Given the description of an element on the screen output the (x, y) to click on. 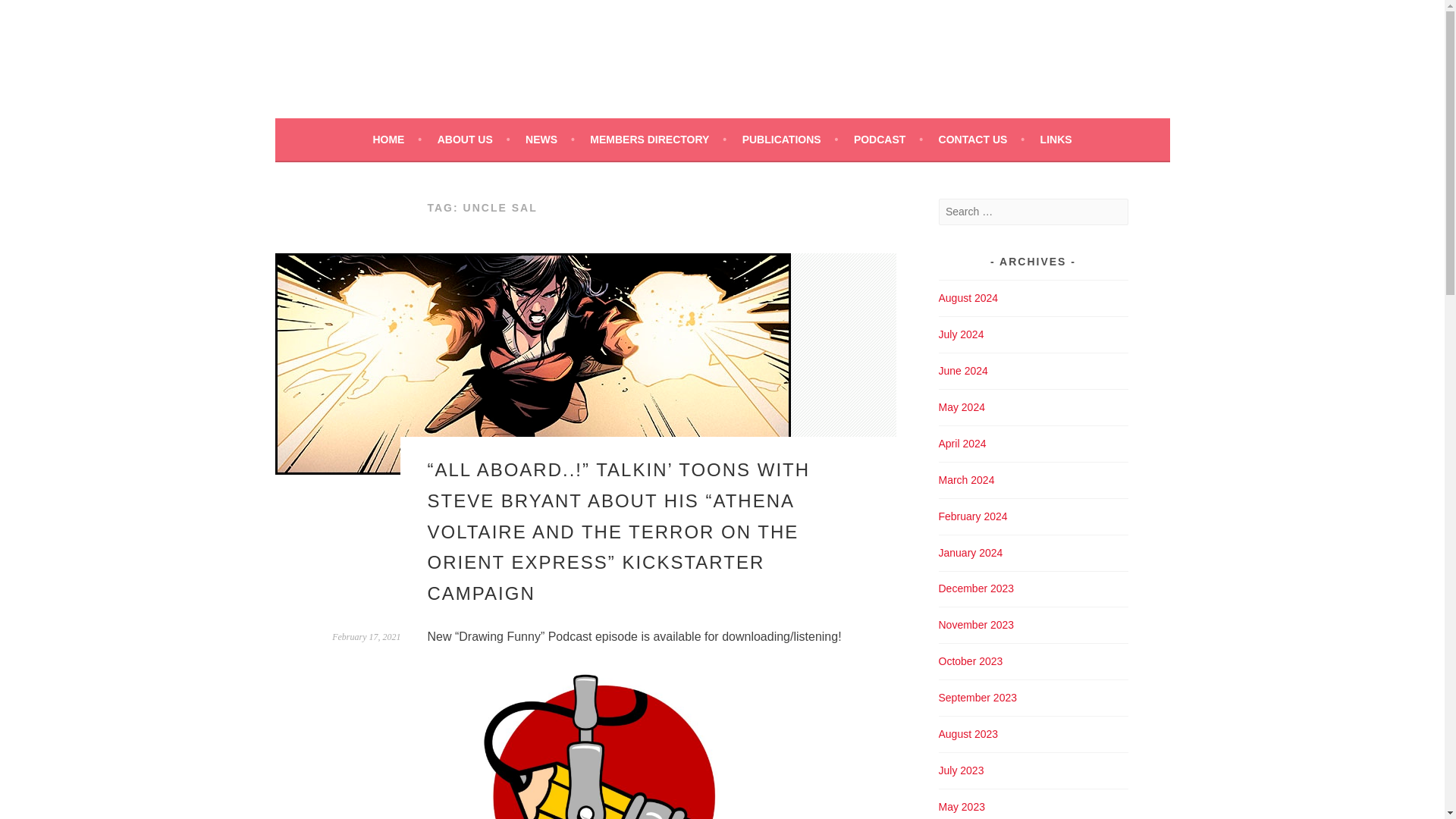
MID-SOUTH CARTOONISTS ASSOCIATION (615, 53)
March 2024 (966, 480)
PODCAST (888, 139)
ABOUT US (474, 139)
February 17, 2021 (365, 636)
Search (30, 13)
NEWS (550, 139)
December 2023 (976, 588)
May 2024 (962, 407)
February 2024 (973, 516)
